Given the description of an element on the screen output the (x, y) to click on. 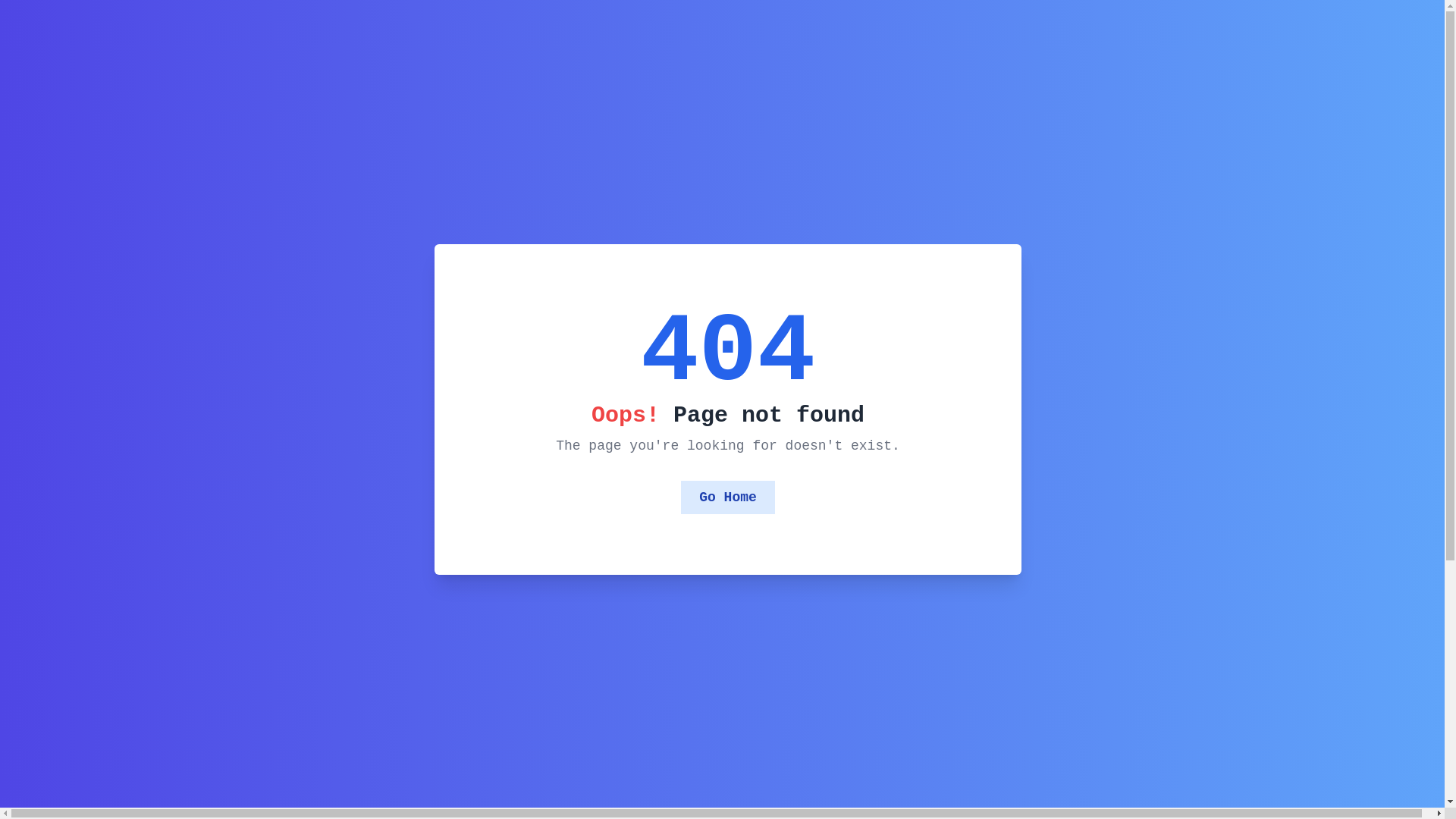
Go Home Element type: text (727, 497)
